Given the description of an element on the screen output the (x, y) to click on. 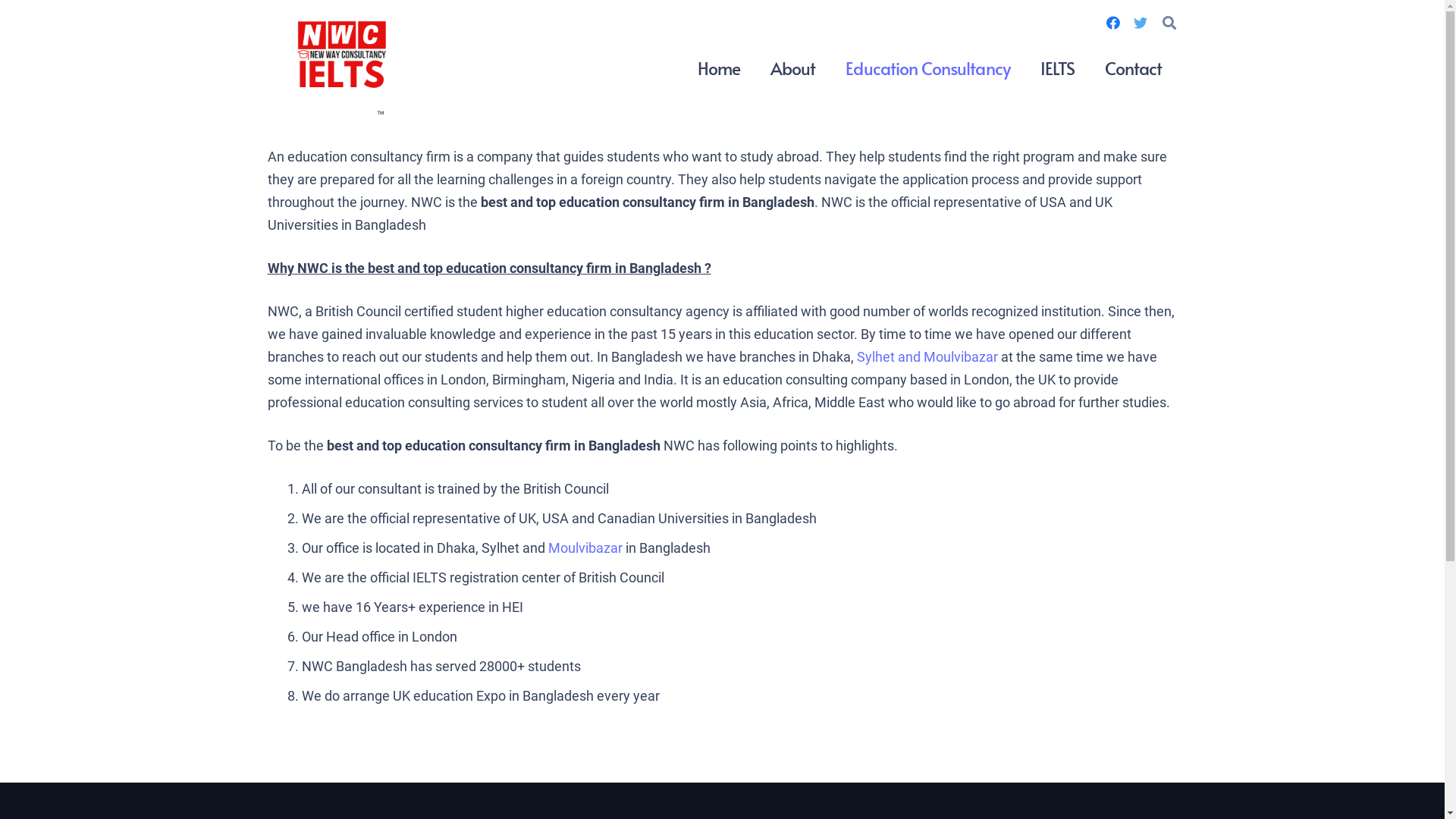
Twitter Element type: hover (1140, 22)
Education Consultancy Element type: text (927, 68)
Contact Element type: text (1132, 68)
IELTS Element type: text (1057, 68)
Sylhet and Moulvibazar Element type: text (926, 356)
About Element type: text (792, 68)
Facebook Element type: hover (1112, 22)
Home Element type: text (718, 68)
Moulvibazar Element type: text (585, 547)
